Given the description of an element on the screen output the (x, y) to click on. 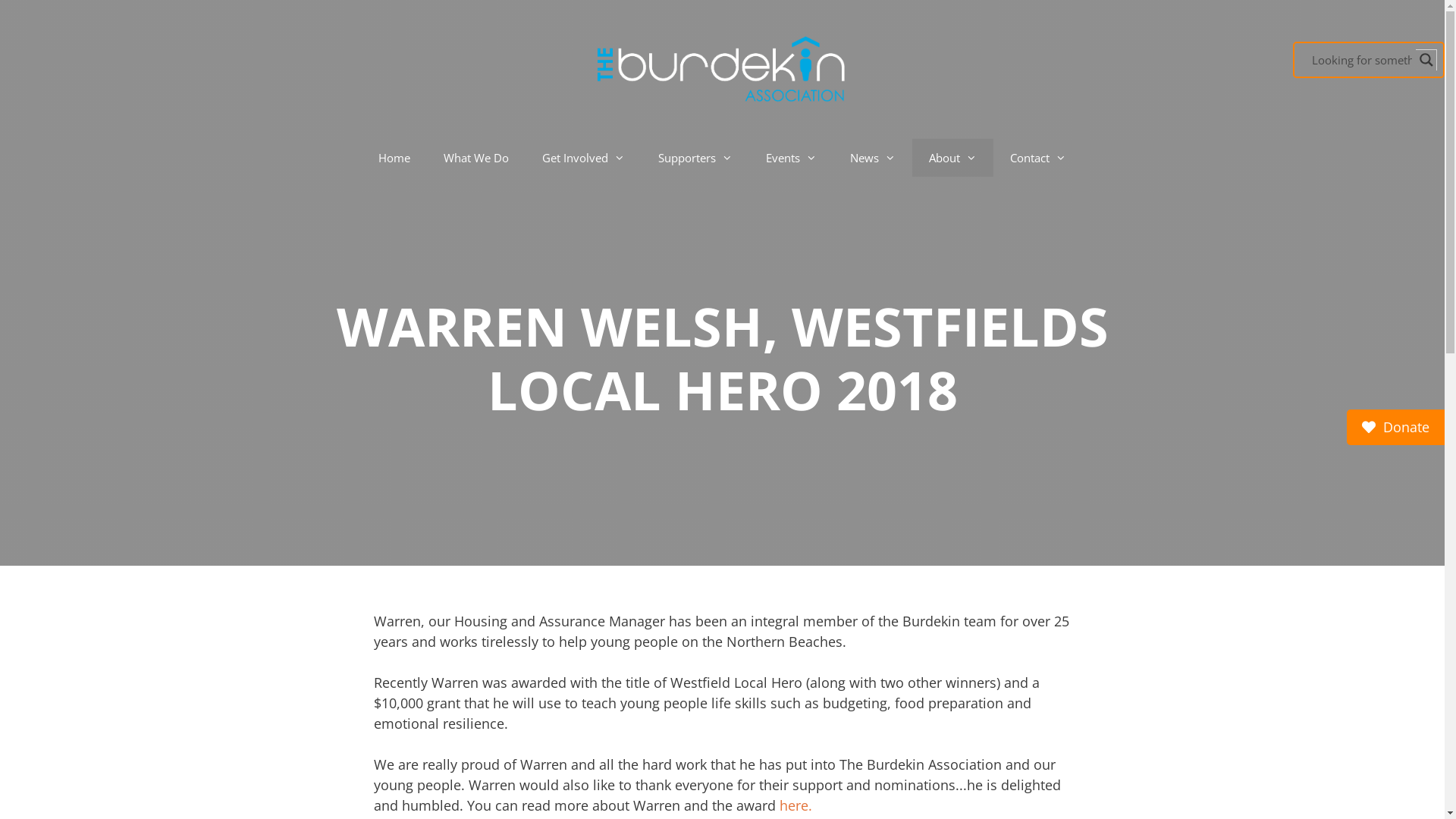
Home Element type: text (393, 157)
What We Do Element type: text (475, 157)
About Element type: text (952, 157)
The Burdekin Association Element type: hover (721, 67)
Contact Element type: text (1037, 157)
News Element type: text (872, 157)
here. Element type: text (795, 805)
Get Involved Element type: text (583, 157)
  Donate Element type: text (1395, 427)
Supporters Element type: text (695, 157)
Events Element type: text (791, 157)
The Burdekin Association Element type: hover (721, 69)
